Given the description of an element on the screen output the (x, y) to click on. 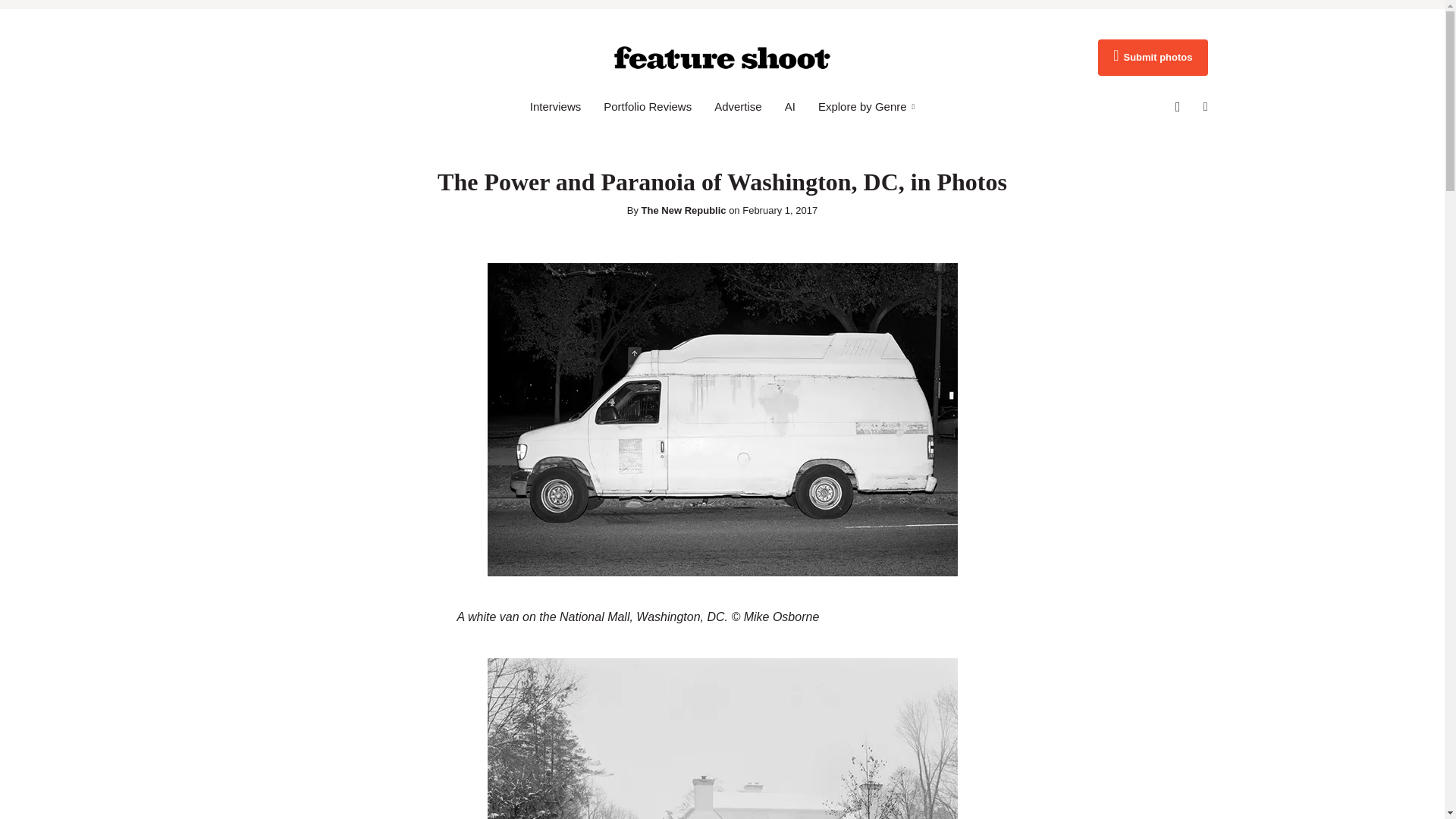
Interviews (554, 106)
Explore by Genre (866, 106)
Posts by The New Republic (684, 210)
Submit photos (1152, 57)
Advertise (737, 106)
Portfolio Reviews (647, 106)
The New Republic (684, 210)
